Given the description of an element on the screen output the (x, y) to click on. 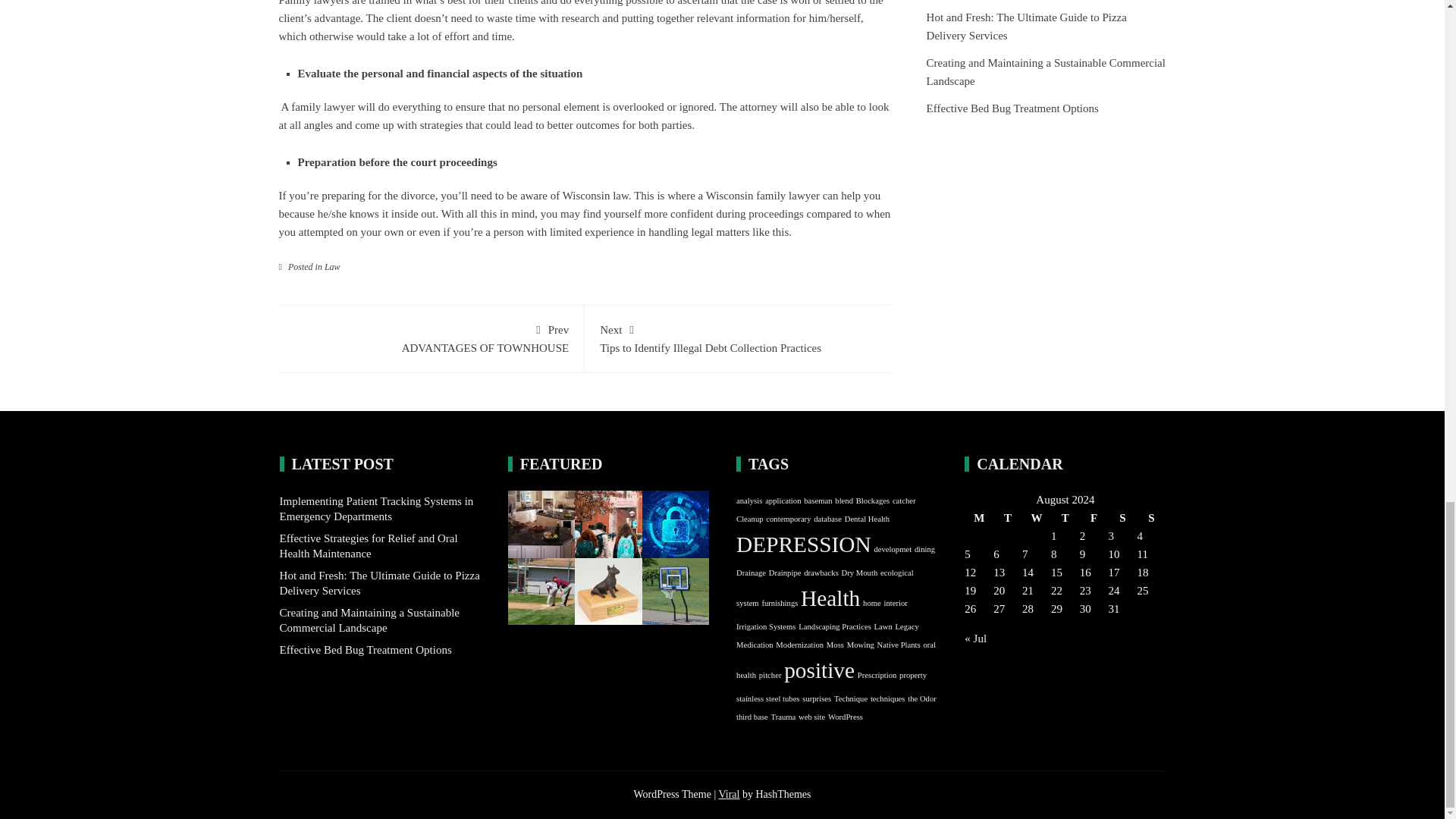
Monday (977, 517)
Thursday (431, 337)
Saturday (737, 337)
Sunday (1065, 517)
Friday (1122, 517)
Wednesday (1151, 517)
Tuesday (1094, 517)
Download Viral (1036, 517)
